Given the description of an element on the screen output the (x, y) to click on. 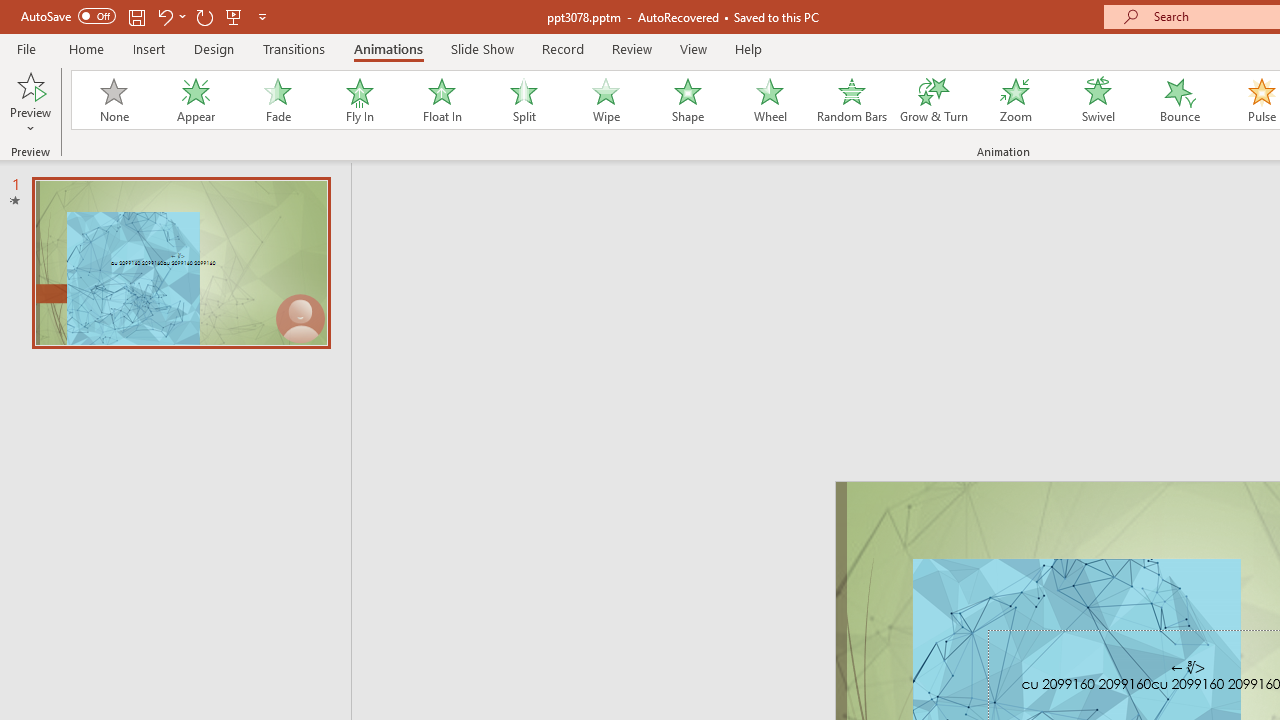
Grow & Turn (934, 100)
